Given the description of an element on the screen output the (x, y) to click on. 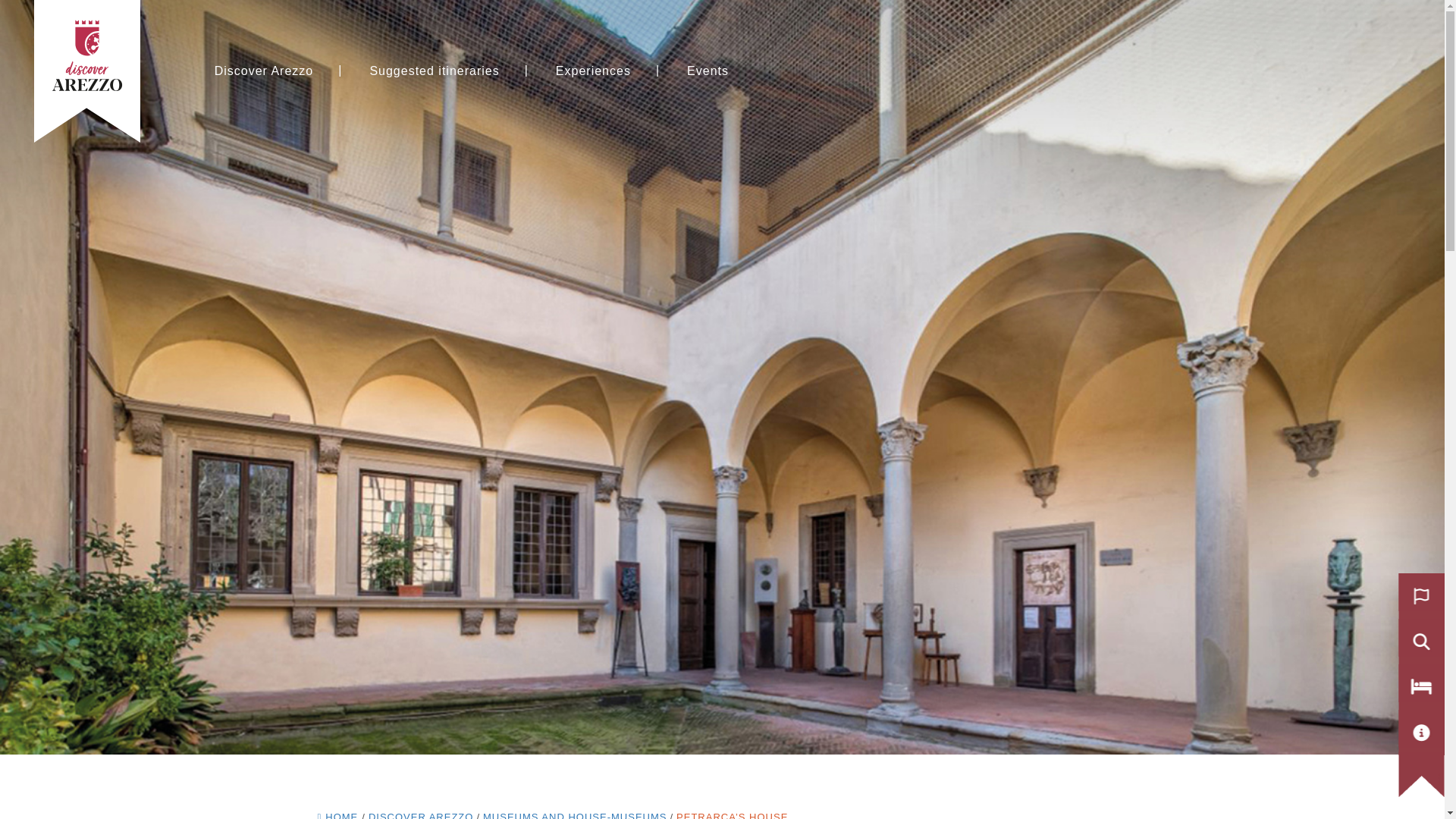
DISCOVER AREZZO (421, 815)
Discover Arezzo (421, 815)
MUSEUMS AND HOUSE-MUSEUMS (574, 815)
HOME (337, 815)
Suggested itineraries (433, 71)
Museums and House-Museums (263, 71)
Experiences (574, 815)
